Given the description of an element on the screen output the (x, y) to click on. 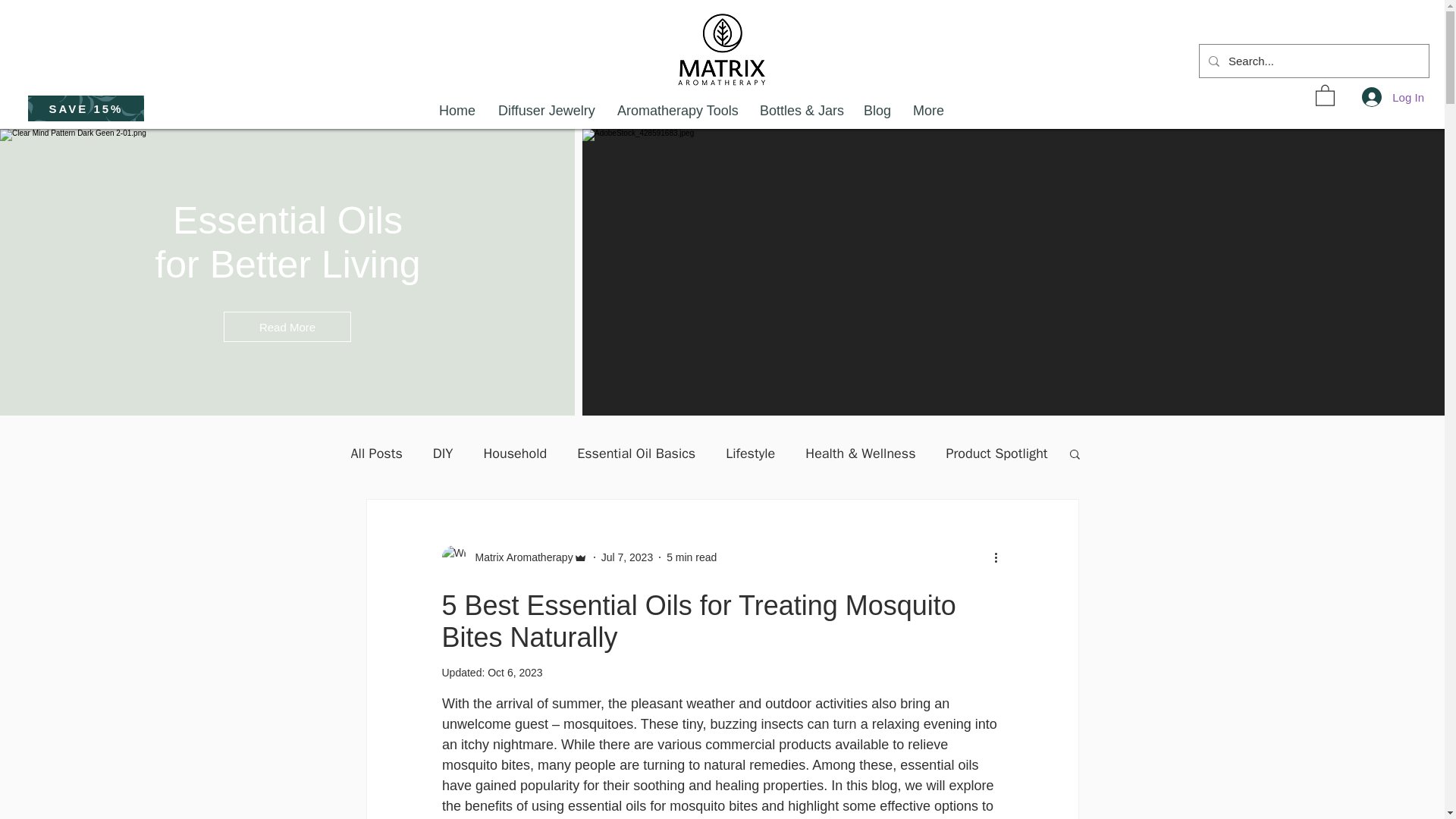
Matrix Aromatherapy (513, 557)
Read More (287, 327)
Matrix Aromatherapy (518, 556)
Aromatherapy Tools (676, 110)
DIY (442, 453)
Product Spotlight (997, 453)
5 min read (691, 556)
Home (457, 110)
Blog (876, 110)
All Posts (375, 453)
Lifestyle (749, 453)
Oct 6, 2023 (514, 672)
Jul 7, 2023 (627, 556)
Diffuser Jewelry (545, 110)
Essential Oil Basics (635, 453)
